Given the description of an element on the screen output the (x, y) to click on. 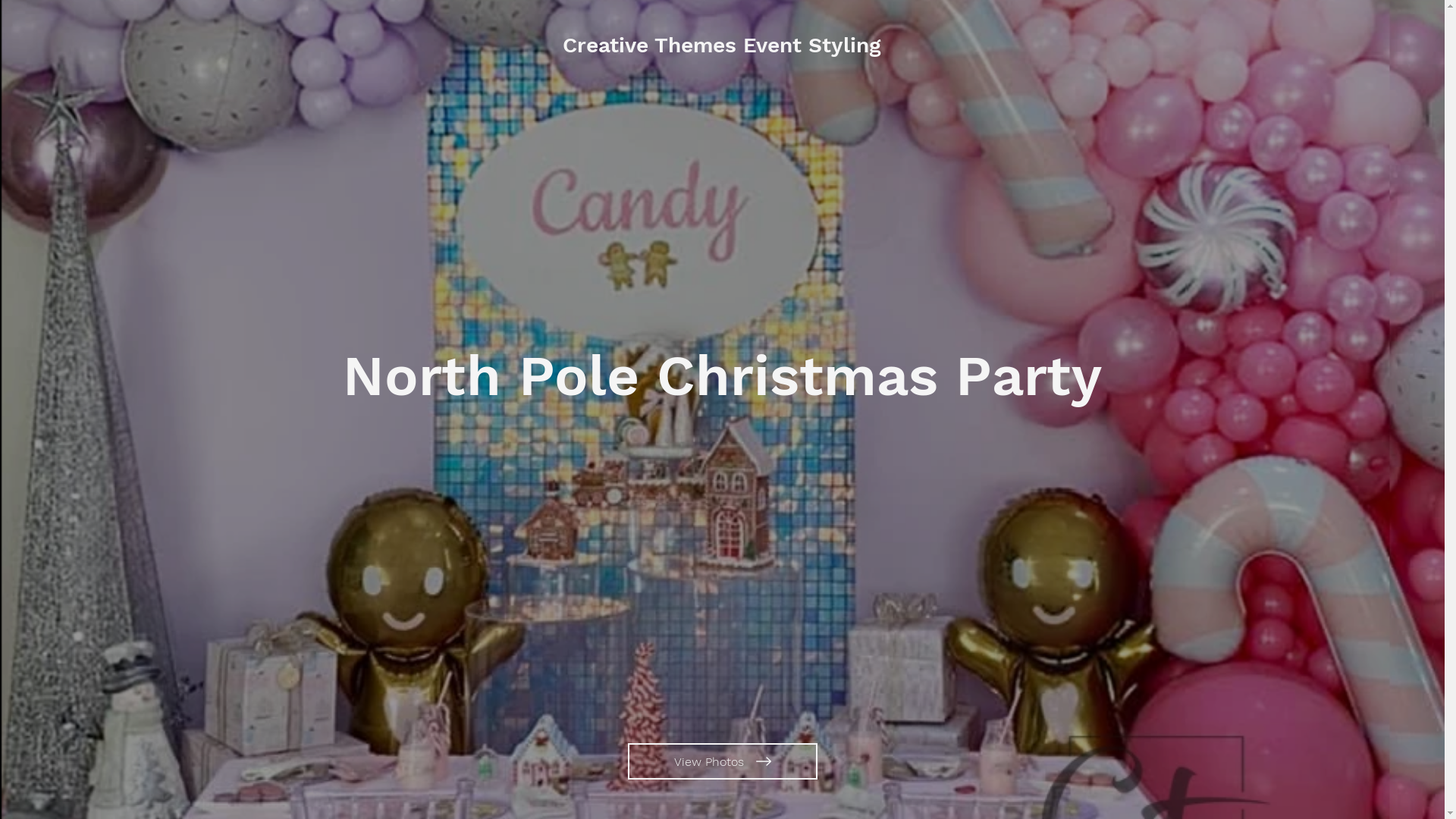
View Photos Element type: text (722, 761)
